Given the description of an element on the screen output the (x, y) to click on. 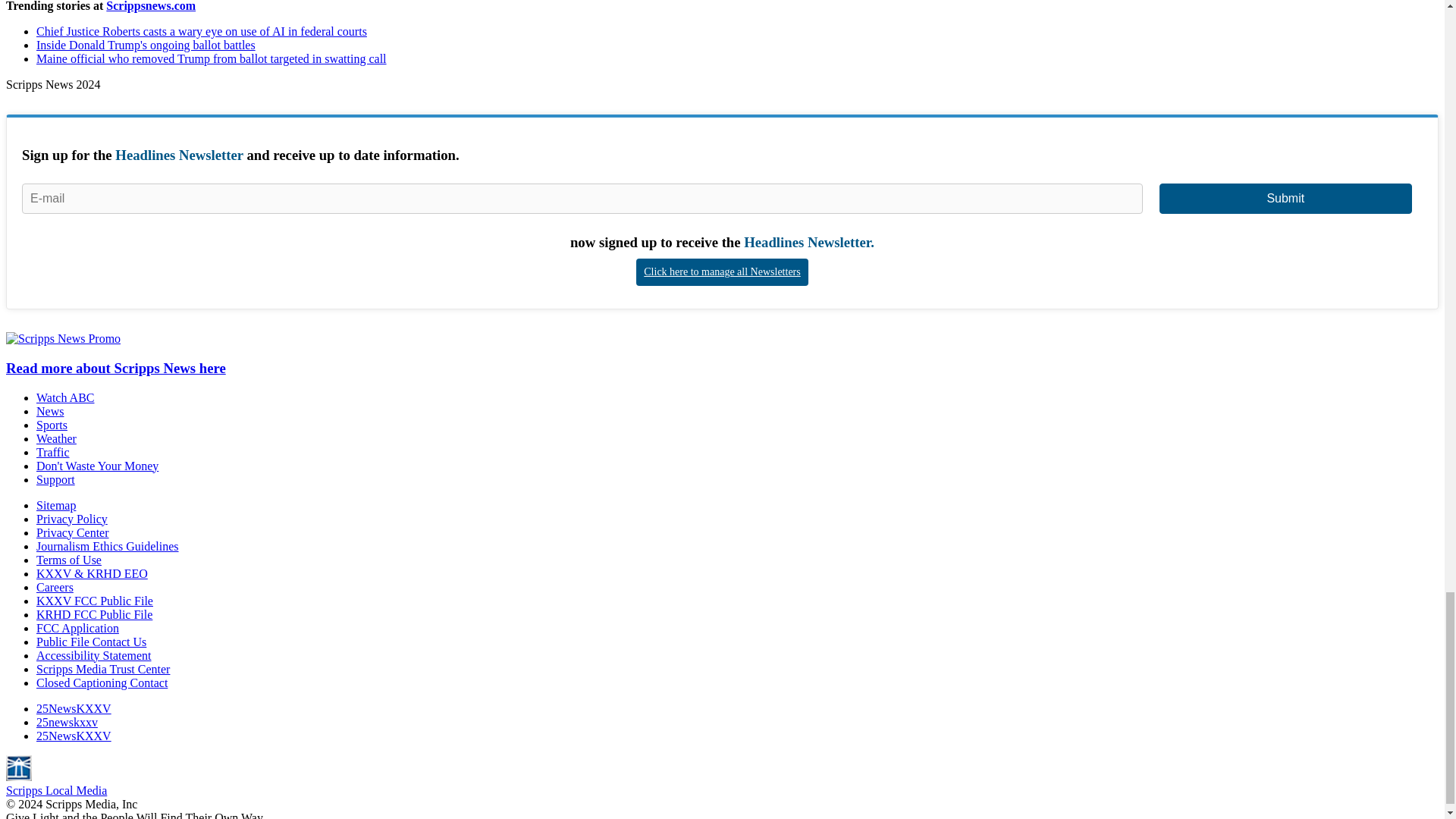
Submit (1284, 198)
